Given the description of an element on the screen output the (x, y) to click on. 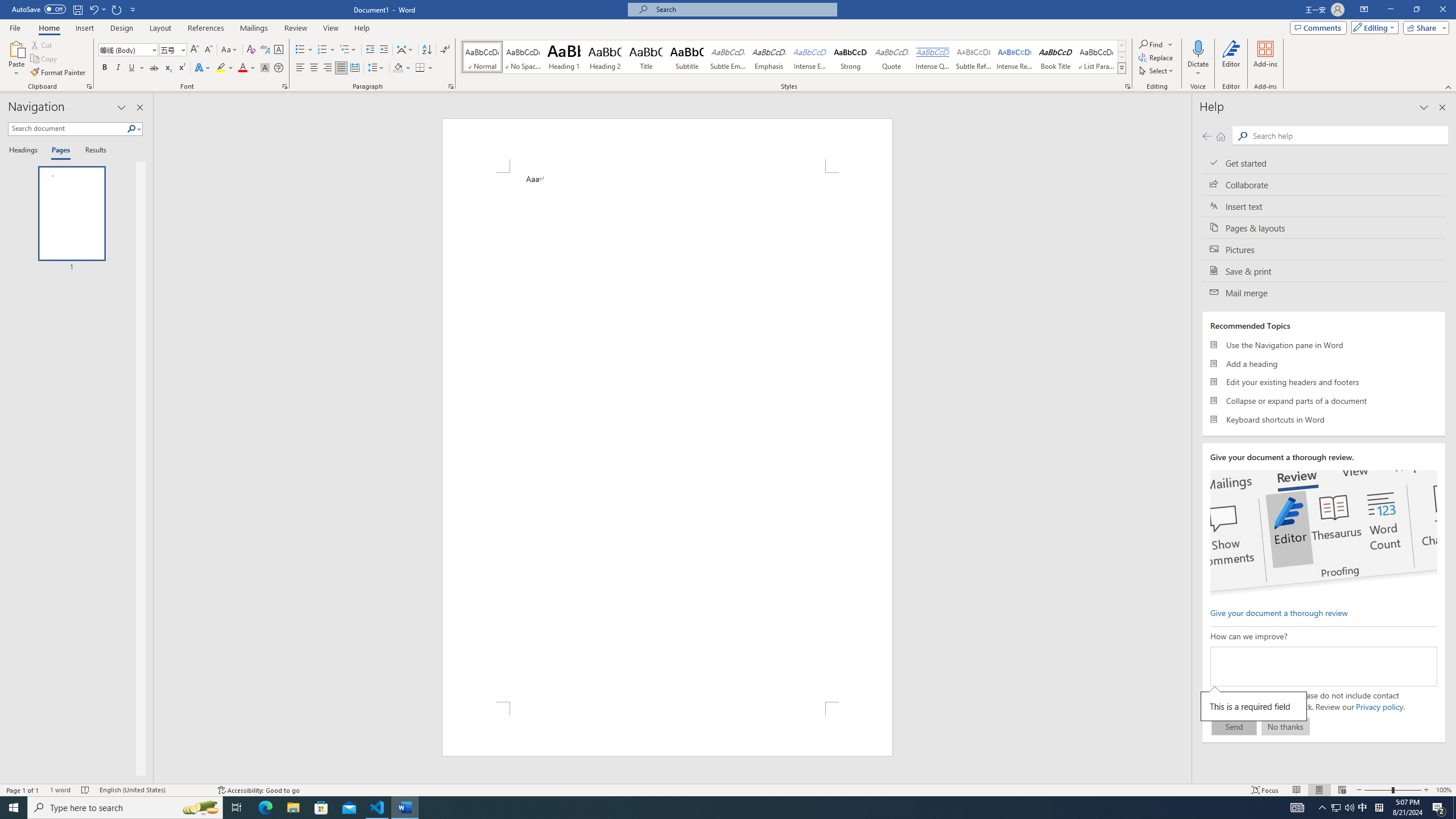
Strong (849, 56)
